Given the description of an element on the screen output the (x, y) to click on. 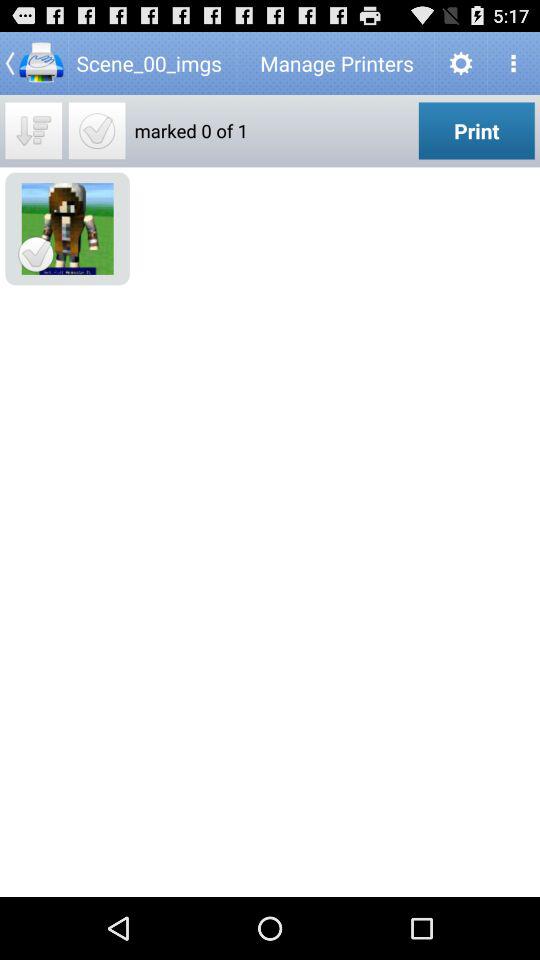
scroll to the print button (476, 130)
